Given the description of an element on the screen output the (x, y) to click on. 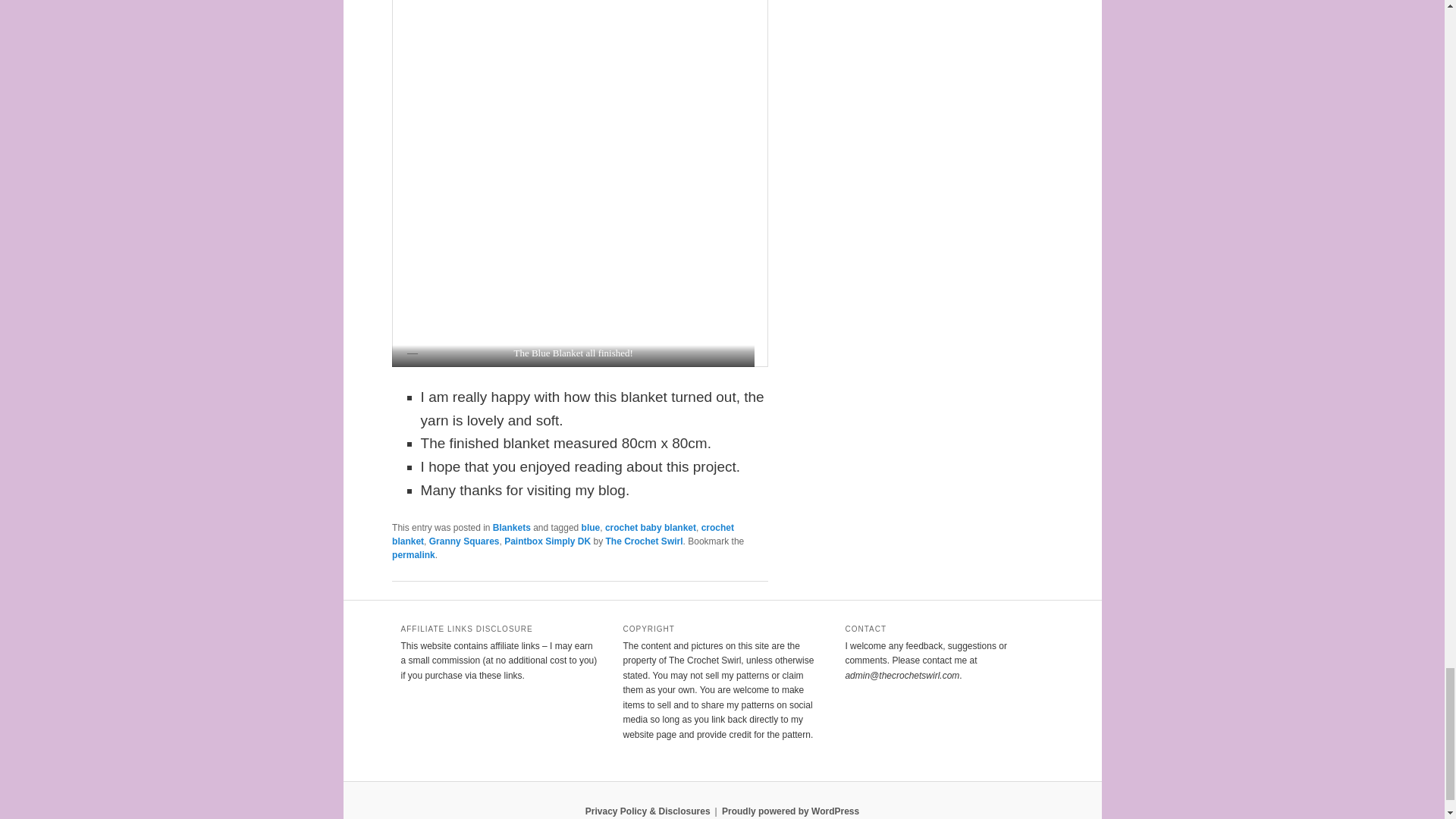
permalink (413, 554)
crochet baby blanket (650, 527)
The Crochet Swirl (643, 541)
crochet blanket (562, 534)
Paintbox Simply DK (547, 541)
blue (589, 527)
Blankets (512, 527)
Granny Squares (464, 541)
Permalink to The Blue Blanket (413, 554)
